Given the description of an element on the screen output the (x, y) to click on. 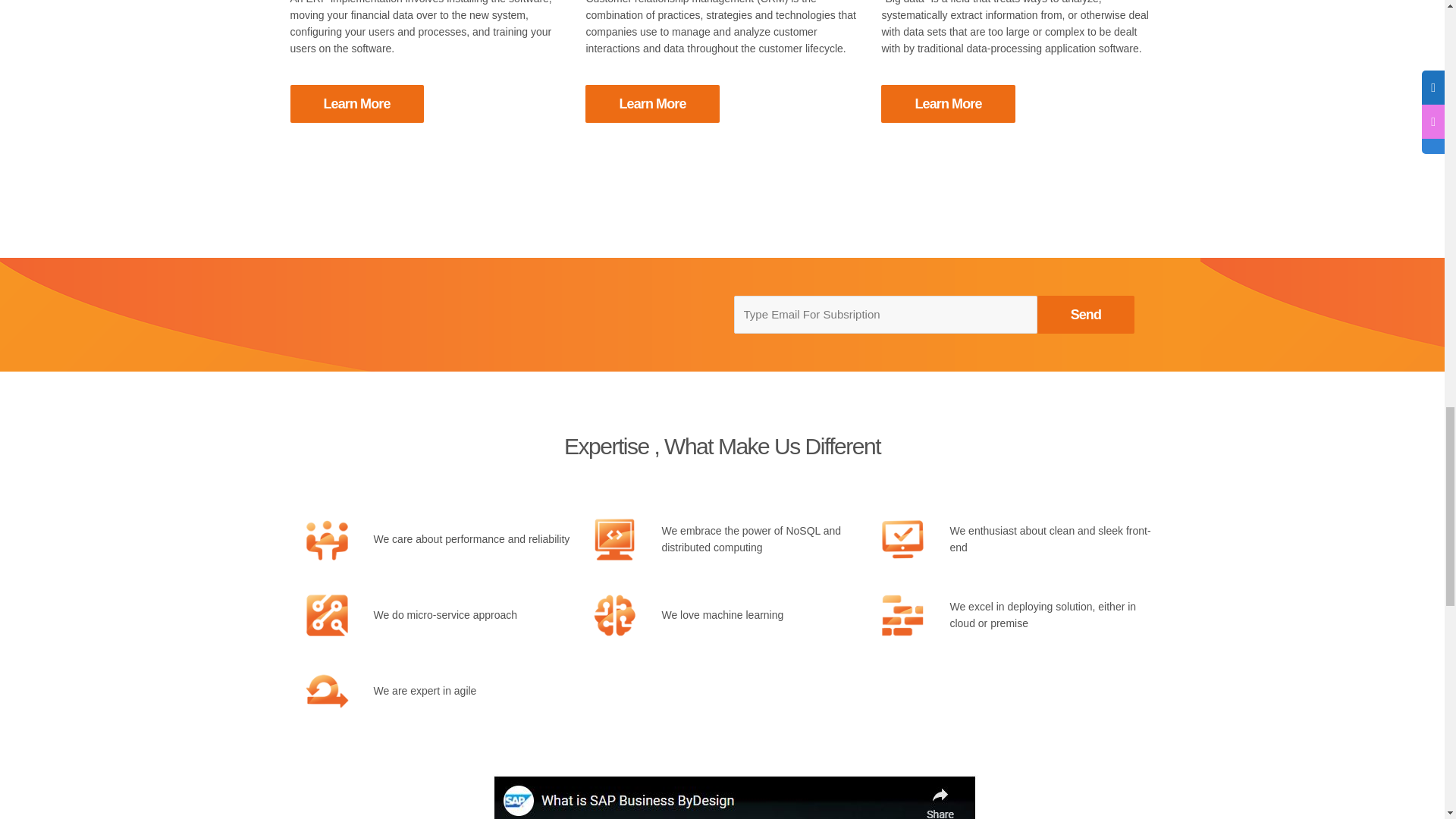
Learn More (356, 103)
Learn More (652, 103)
Learn More (947, 103)
Learn More (947, 102)
Send (1085, 314)
Send (1085, 314)
Learn More (652, 102)
Learn More (356, 102)
